Given the description of an element on the screen output the (x, y) to click on. 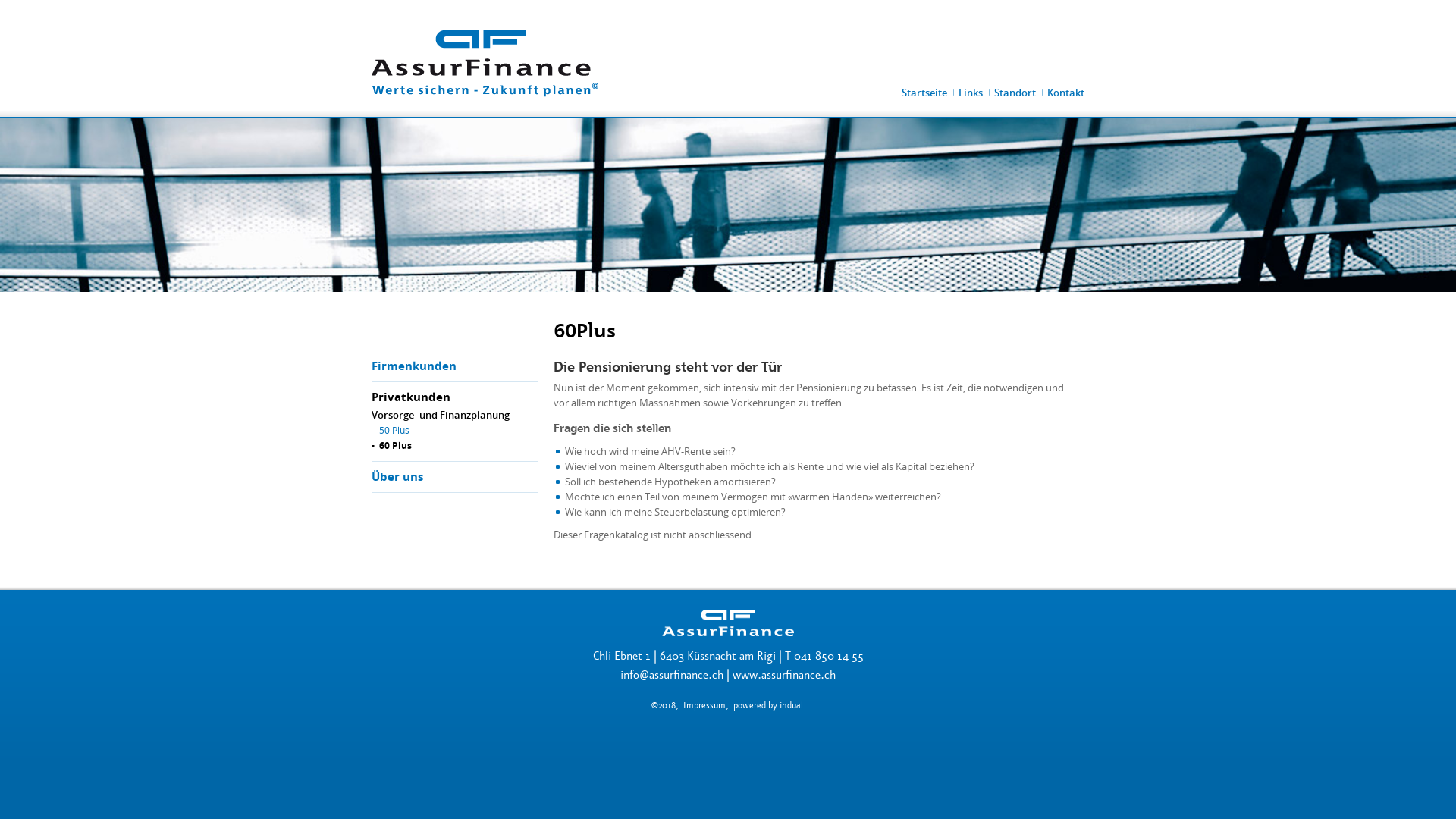
Startseite Element type: text (924, 92)
Privatkunden Element type: text (410, 396)
Firmenkunden Element type: text (413, 365)
Vorsorge- und Finanzplanung Element type: text (440, 414)
60 Plus Element type: text (395, 445)
info@assurfinance.ch Element type: text (671, 675)
powered by indual Element type: text (768, 705)
Links Element type: text (970, 92)
Kontakt Element type: text (1065, 92)
041 850 14 55 Element type: text (827, 656)
Standort Element type: text (1014, 92)
Impressum Element type: text (704, 705)
50 Plus Element type: text (394, 429)
